Given the description of an element on the screen output the (x, y) to click on. 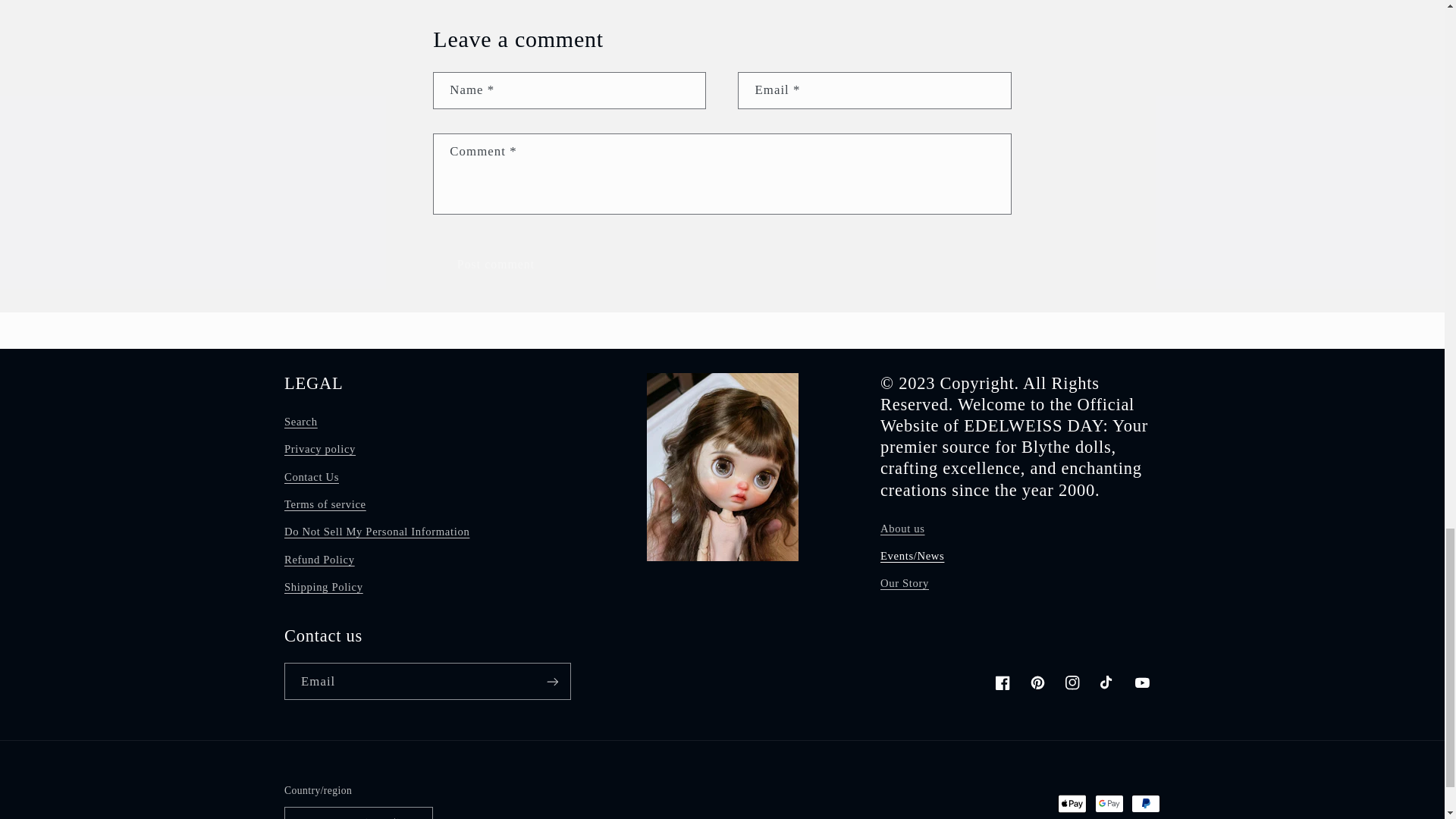
Post comment (494, 264)
